Given the description of an element on the screen output the (x, y) to click on. 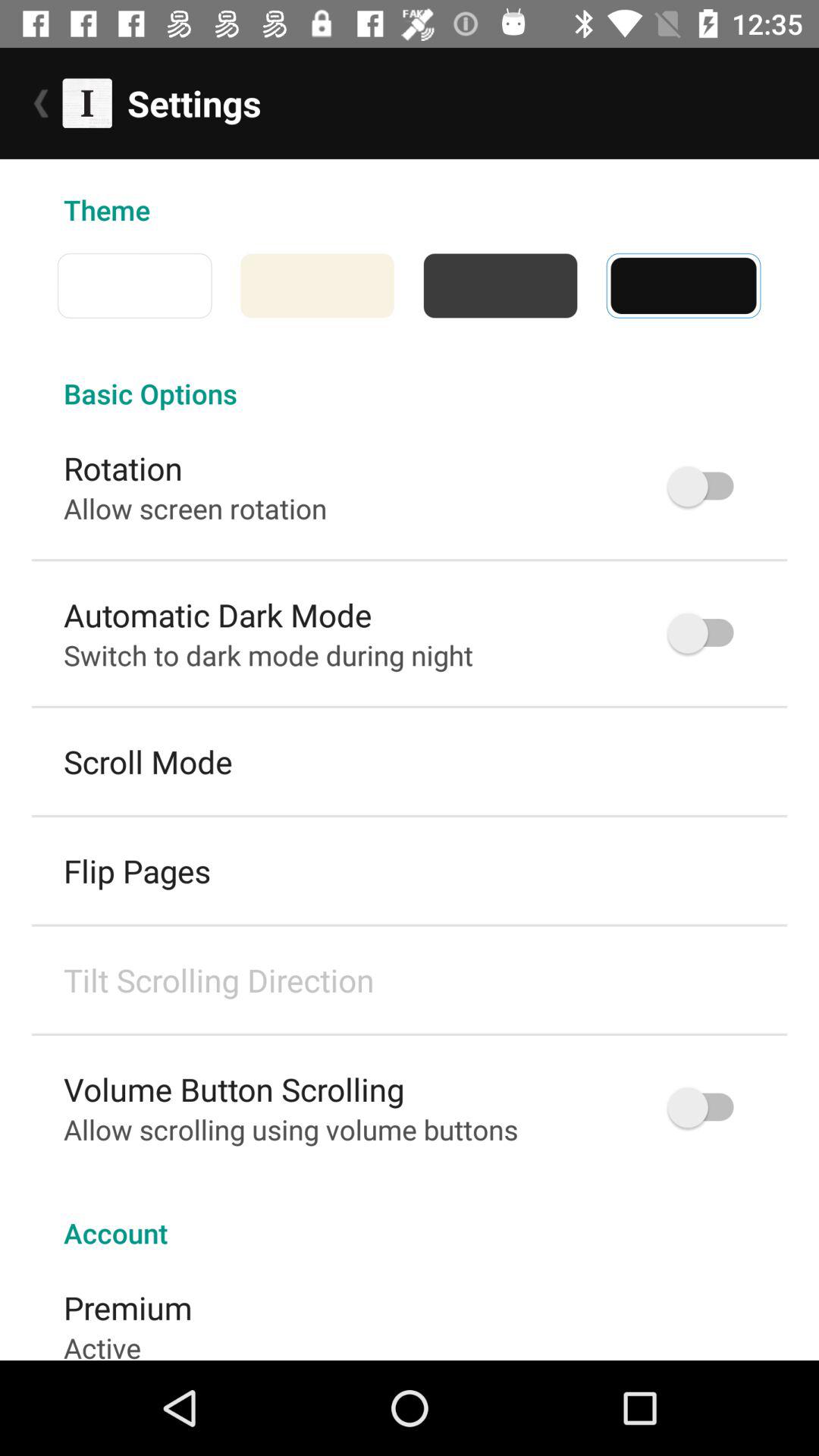
swipe to the scroll mode (147, 761)
